Given the description of an element on the screen output the (x, y) to click on. 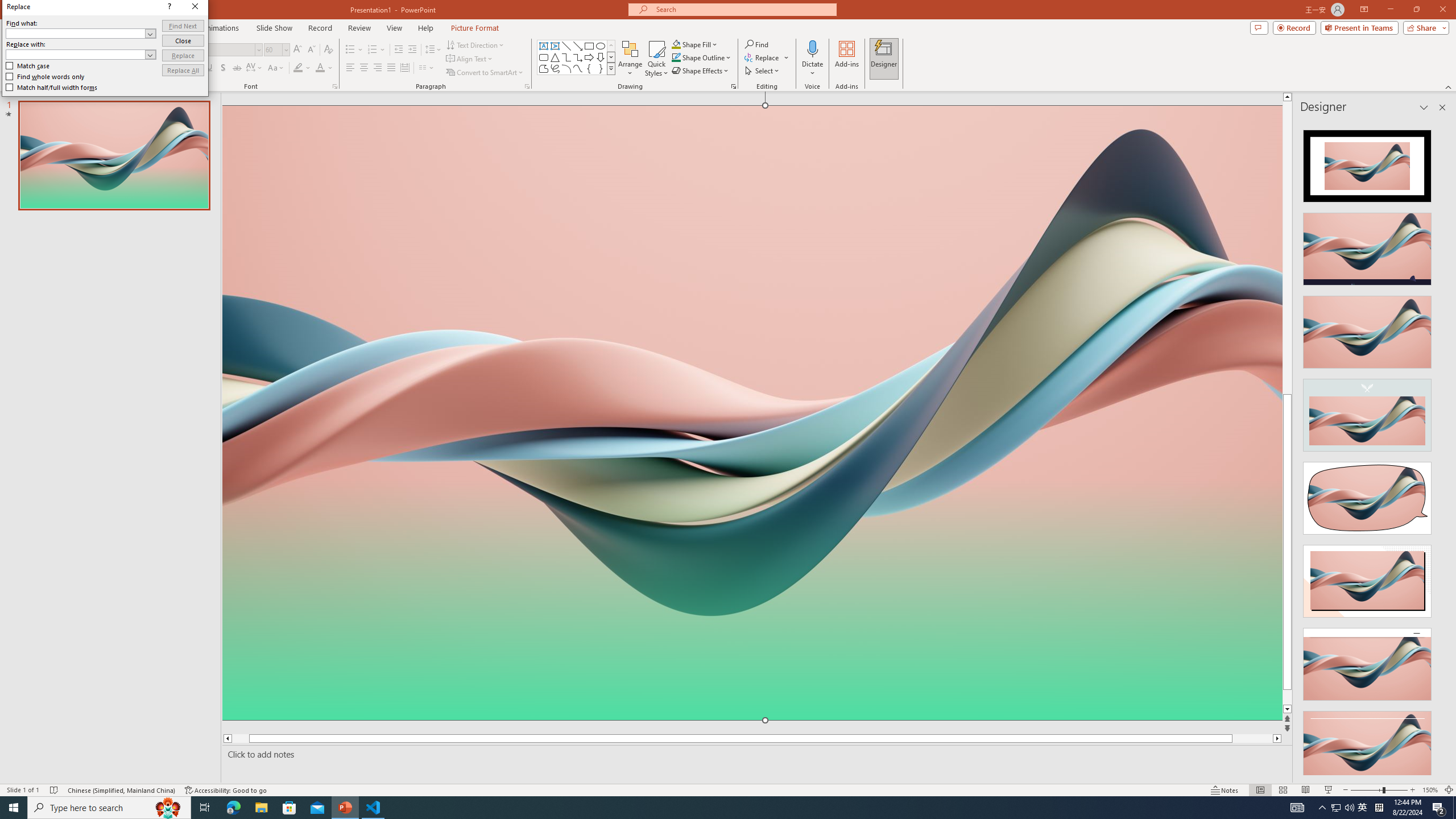
Section (144, 72)
Isosceles Triangle (554, 57)
Increase Font Size (297, 49)
Replace with (754, 328)
Align Right (377, 67)
Line (566, 45)
